Given the description of an element on the screen output the (x, y) to click on. 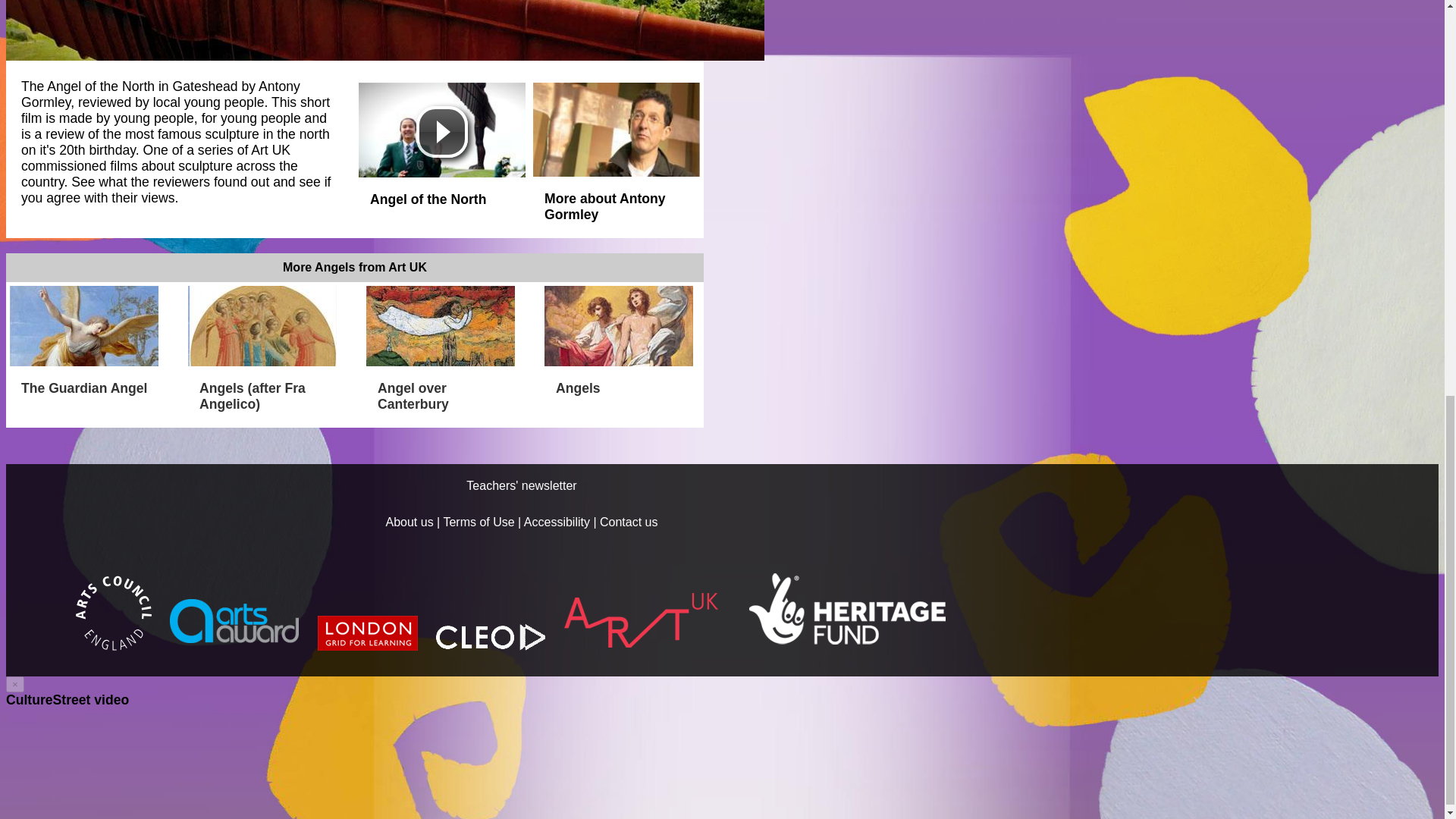
Angels (622, 381)
Terms of Use (477, 521)
The Guardian Angel (87, 381)
Teachers' newsletter (520, 485)
Accessibility (556, 521)
About us (408, 521)
Angel over Canterbury (443, 389)
Contact us (628, 521)
